Given the description of an element on the screen output the (x, y) to click on. 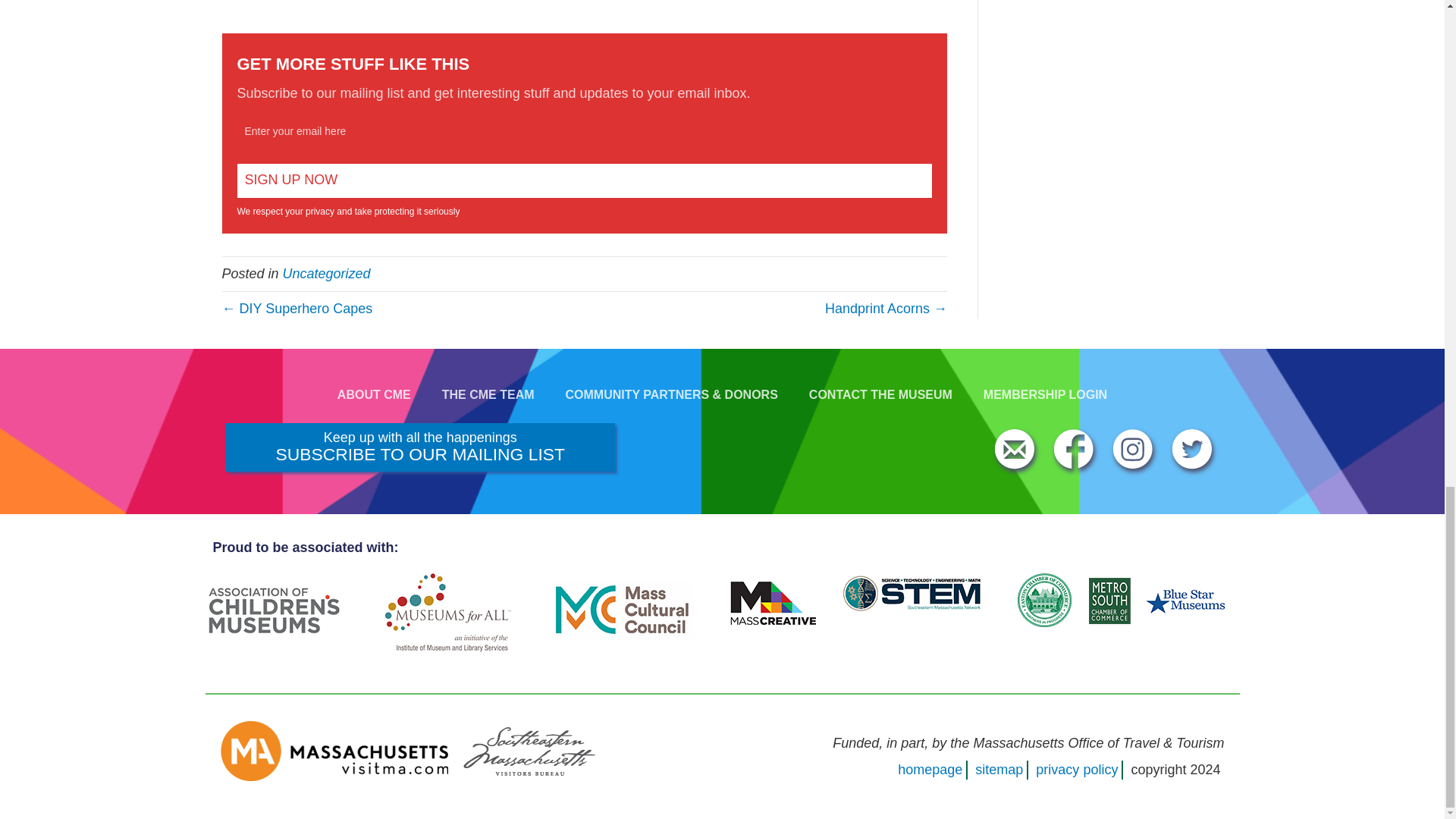
ABOUT CME (373, 395)
Uncategorized (326, 273)
Sign Up Now (583, 180)
Sign Up Now (583, 180)
